Given the description of an element on the screen output the (x, y) to click on. 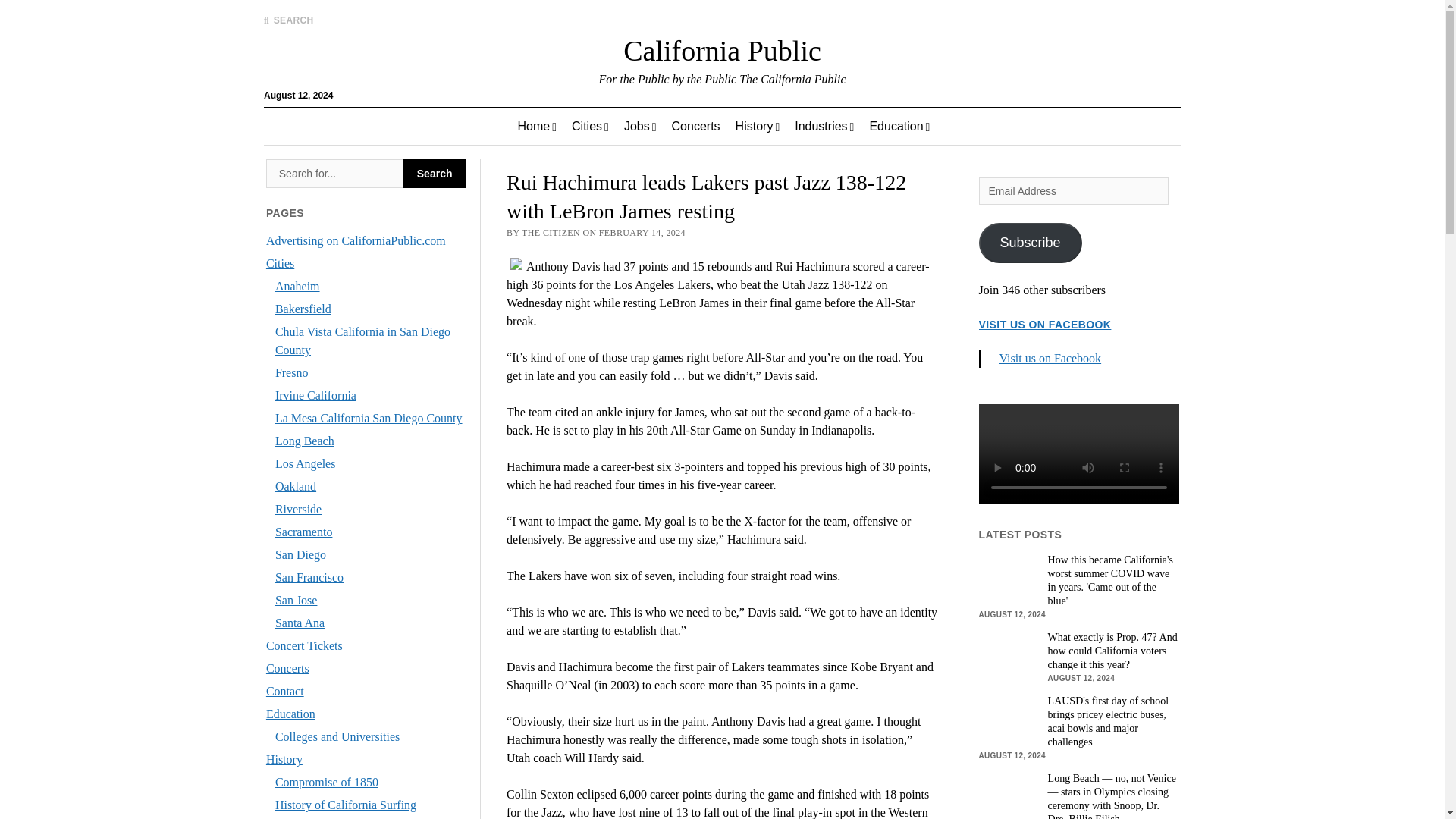
Search (434, 173)
Cities (589, 126)
Search (334, 173)
California Public (722, 50)
Home (537, 126)
Search (945, 129)
SEARCH (288, 20)
Search (434, 173)
Jobs (639, 126)
